Given the description of an element on the screen output the (x, y) to click on. 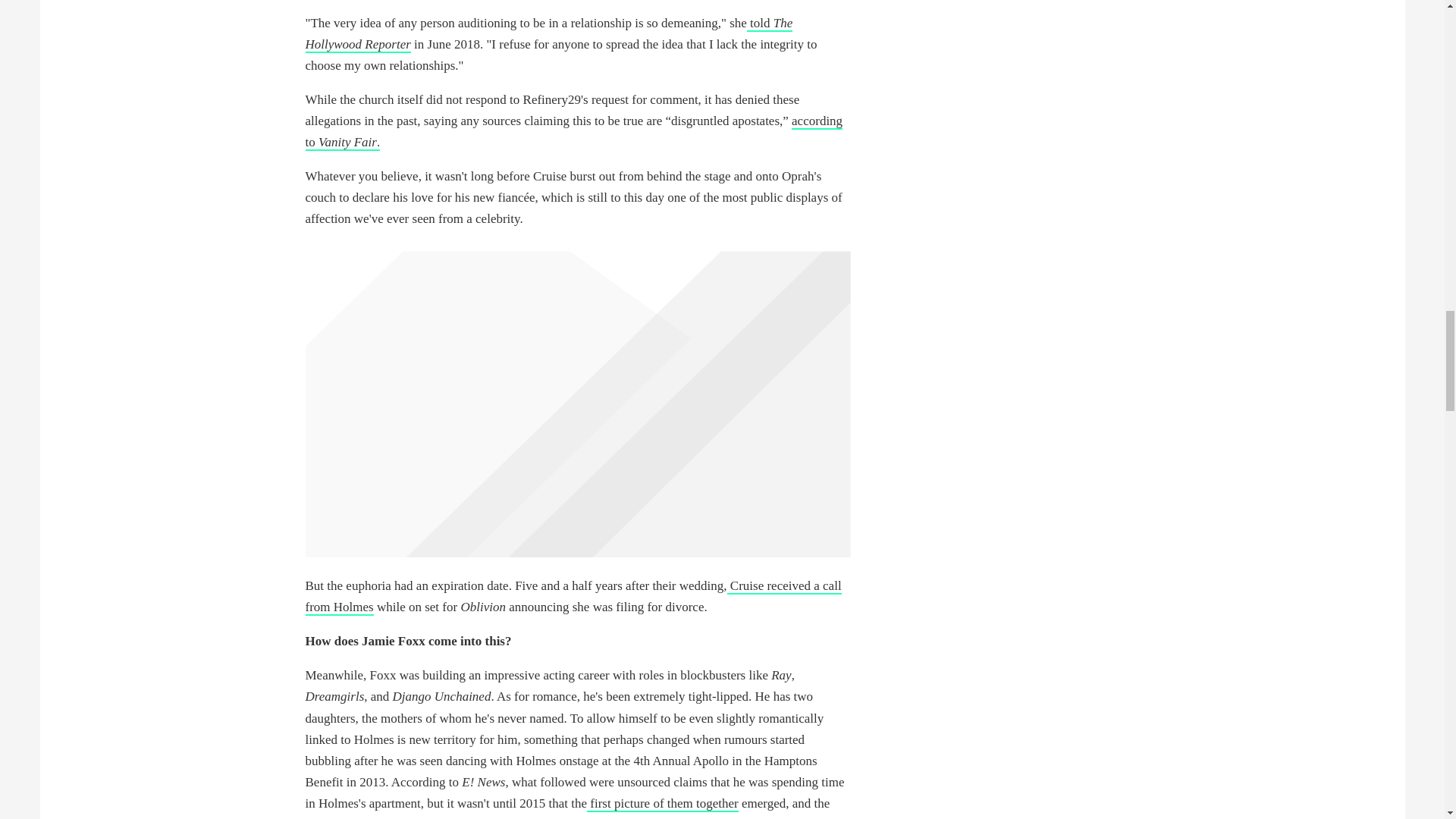
according to Vanity Fair. (573, 131)
Cruise received a call from Holmes (572, 596)
first picture of them together (662, 804)
told The Hollywood Reporter (548, 34)
